Given the description of an element on the screen output the (x, y) to click on. 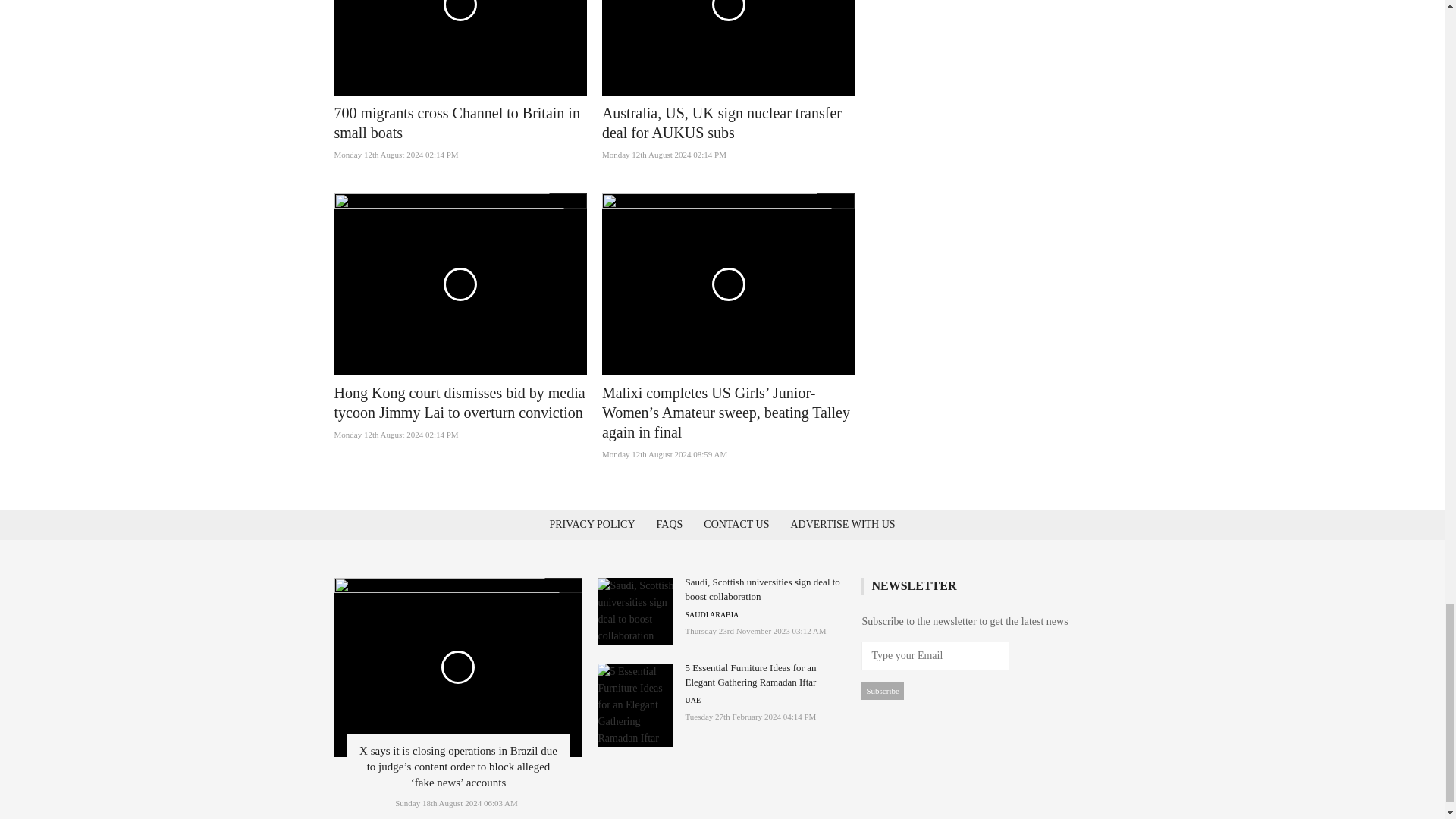
700 migrants cross Channel to Britain in small boats (456, 122)
Subscribe (881, 690)
Australia, US, UK sign nuclear transfer deal for AUKUS subs (721, 122)
